Given the description of an element on the screen output the (x, y) to click on. 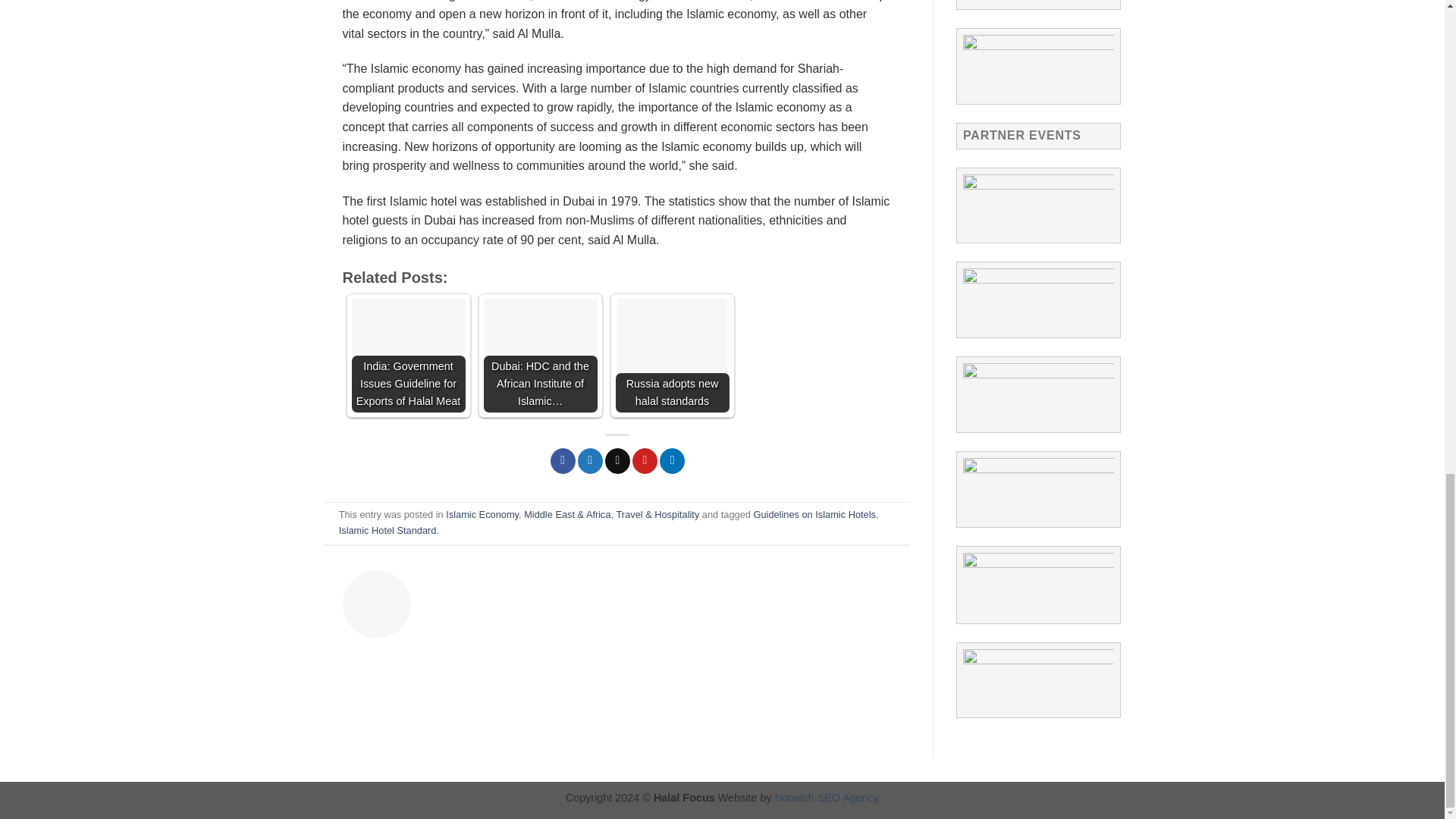
Share on Twitter (590, 460)
Russia adopts new halal standards (671, 355)
Share on Facebook (562, 460)
India: Government Issues Guideline for Exports of Halal Meat (408, 355)
Pin on Pinterest (644, 460)
Email to a Friend (617, 460)
